Given the description of an element on the screen output the (x, y) to click on. 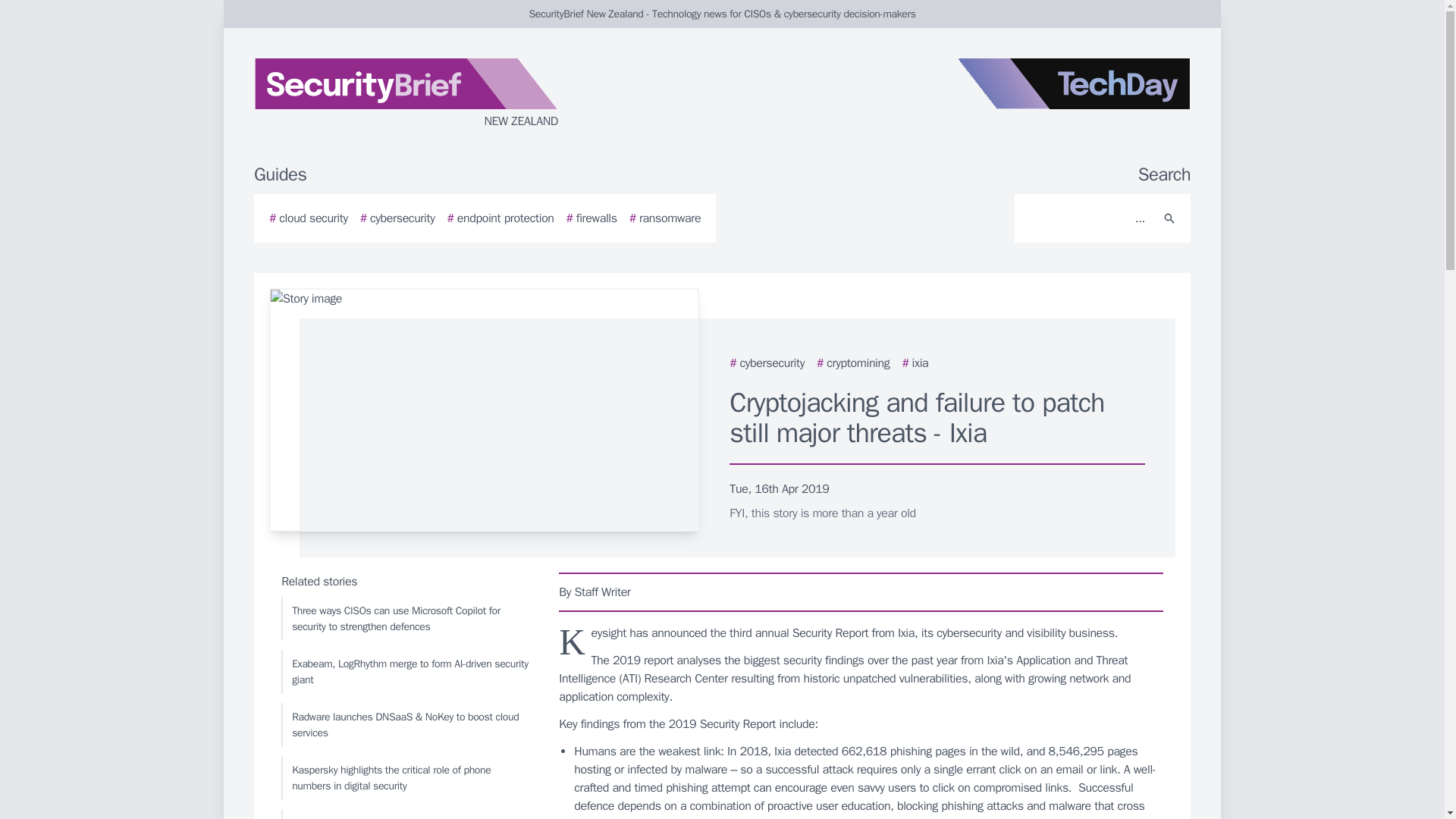
Exabeam, LogRhythm merge to form AI-driven security giant (406, 671)
NEW ZEALAND (435, 94)
By Staff Writer (861, 592)
